Given the description of an element on the screen output the (x, y) to click on. 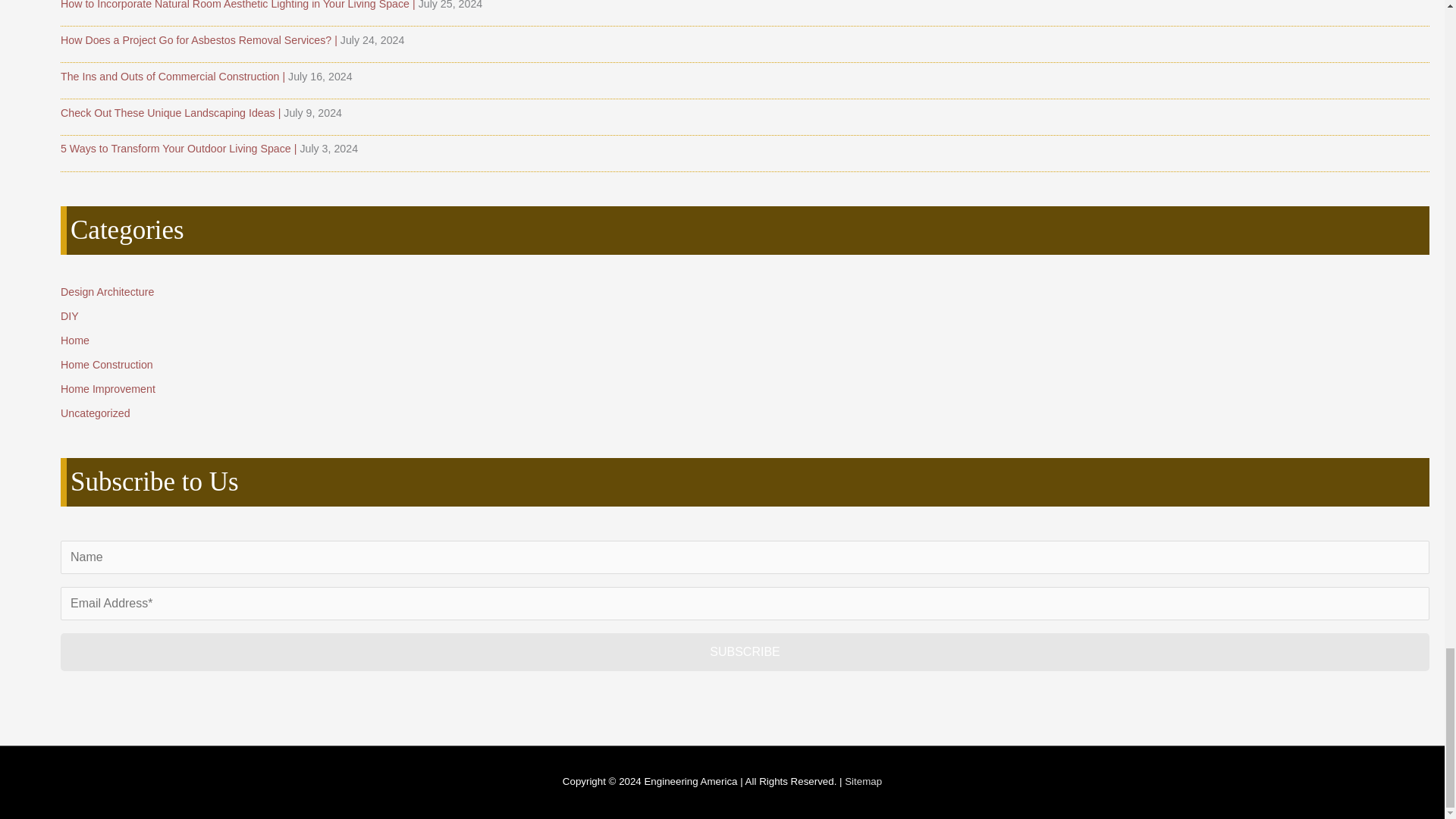
The Ins and Outs of Commercial Construction (174, 76)
Check Out These Unique Landscaping Ideas (172, 112)
Subscribe (745, 651)
Design Architecture (107, 291)
How Does a Project Go for Asbestos Removal Services? (200, 39)
DIY (69, 316)
Home (74, 340)
5 Ways to Transform Your Outdoor Living Space (180, 148)
